Given the description of an element on the screen output the (x, y) to click on. 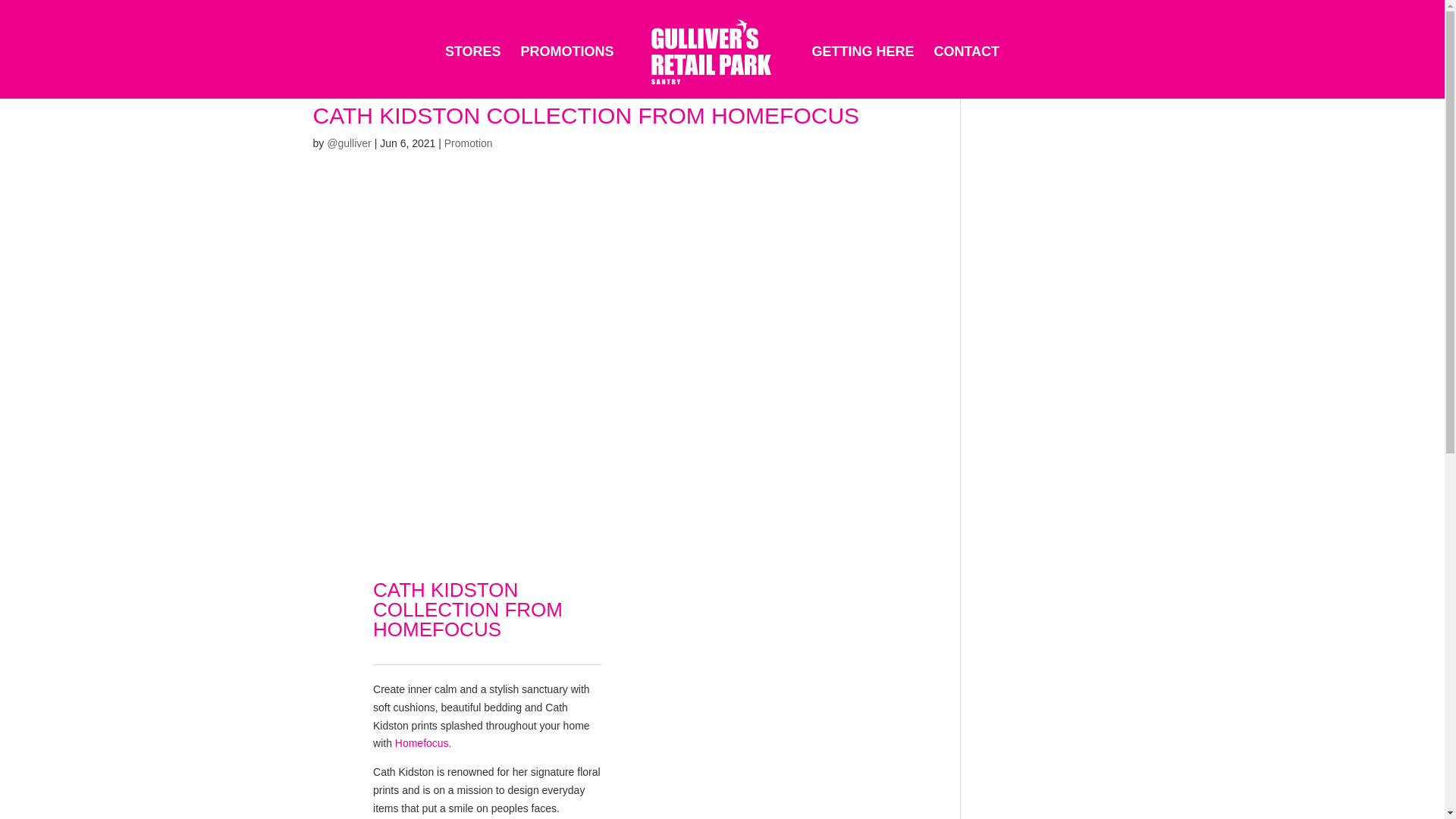
Promotion (468, 143)
PROMOTIONS (567, 71)
CONTACT (965, 71)
GETTING HERE (862, 71)
Homefocus. (422, 743)
STORES (472, 71)
